Given the description of an element on the screen output the (x, y) to click on. 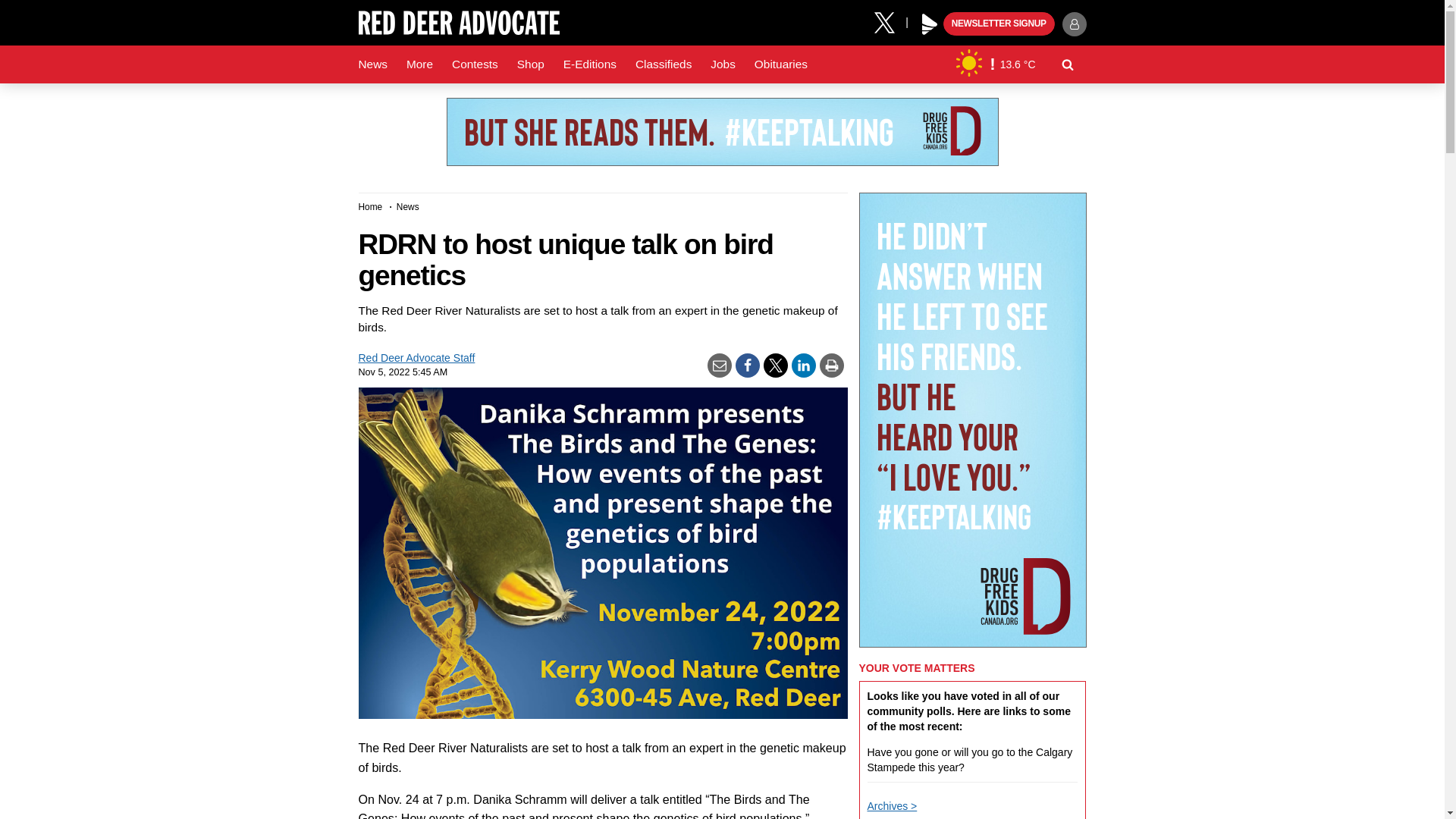
3rd party ad content (721, 131)
X (889, 21)
Black Press Media (929, 24)
Play (929, 24)
Weather alert (992, 64)
News (372, 64)
NEWSLETTER SIGNUP (998, 24)
